Given the description of an element on the screen output the (x, y) to click on. 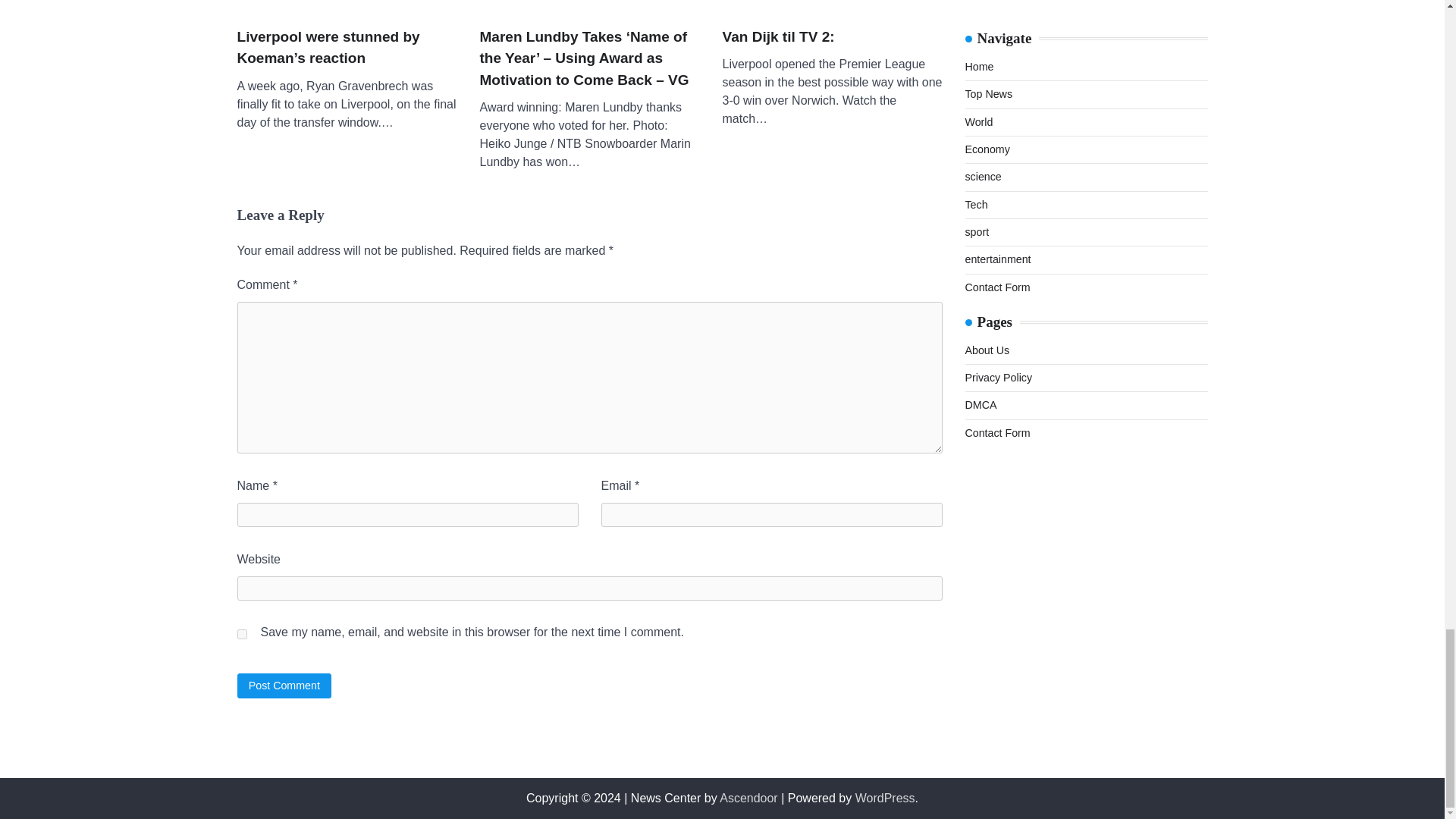
yes (240, 634)
Post Comment (283, 685)
Post Comment (283, 685)
Van Dijk til TV 2: (778, 37)
Van Dijk til TV 2: (832, 5)
